Given the description of an element on the screen output the (x, y) to click on. 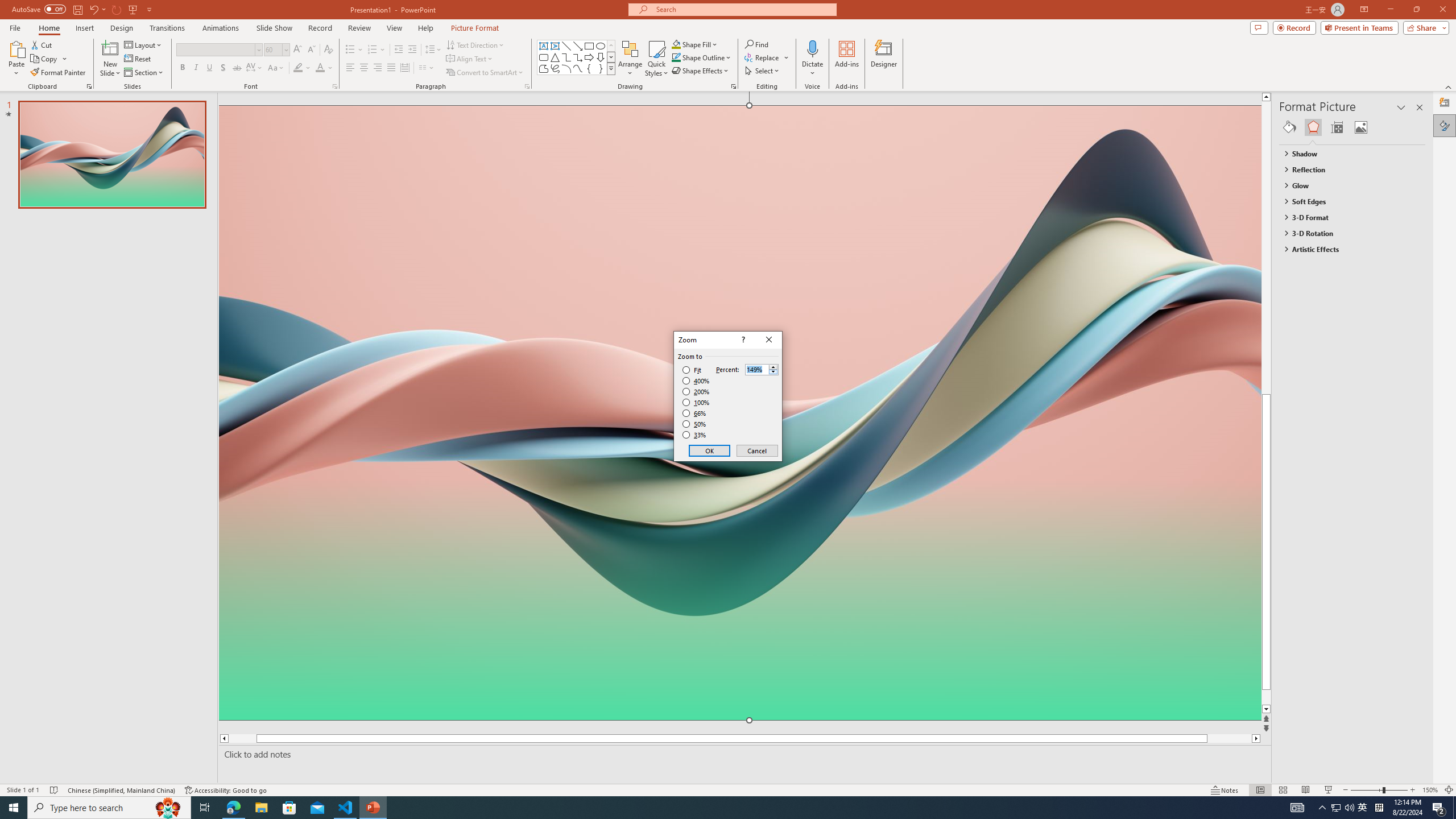
Picture Format (475, 28)
Fill & Line (1288, 126)
Class: NetUIGalleryContainer (1352, 126)
